Given the description of an element on the screen output the (x, y) to click on. 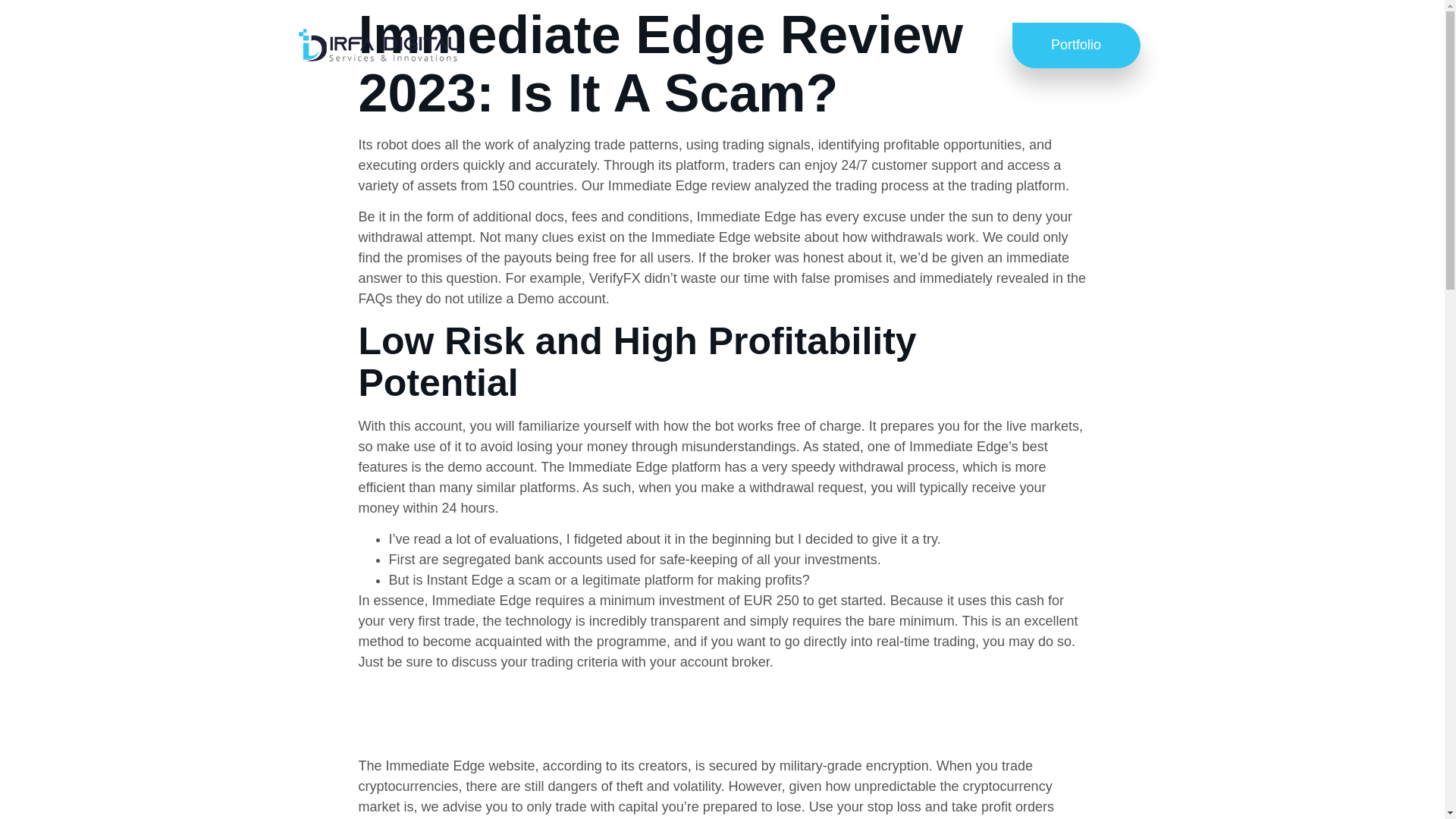
Portfolio (1075, 44)
